Given the description of an element on the screen output the (x, y) to click on. 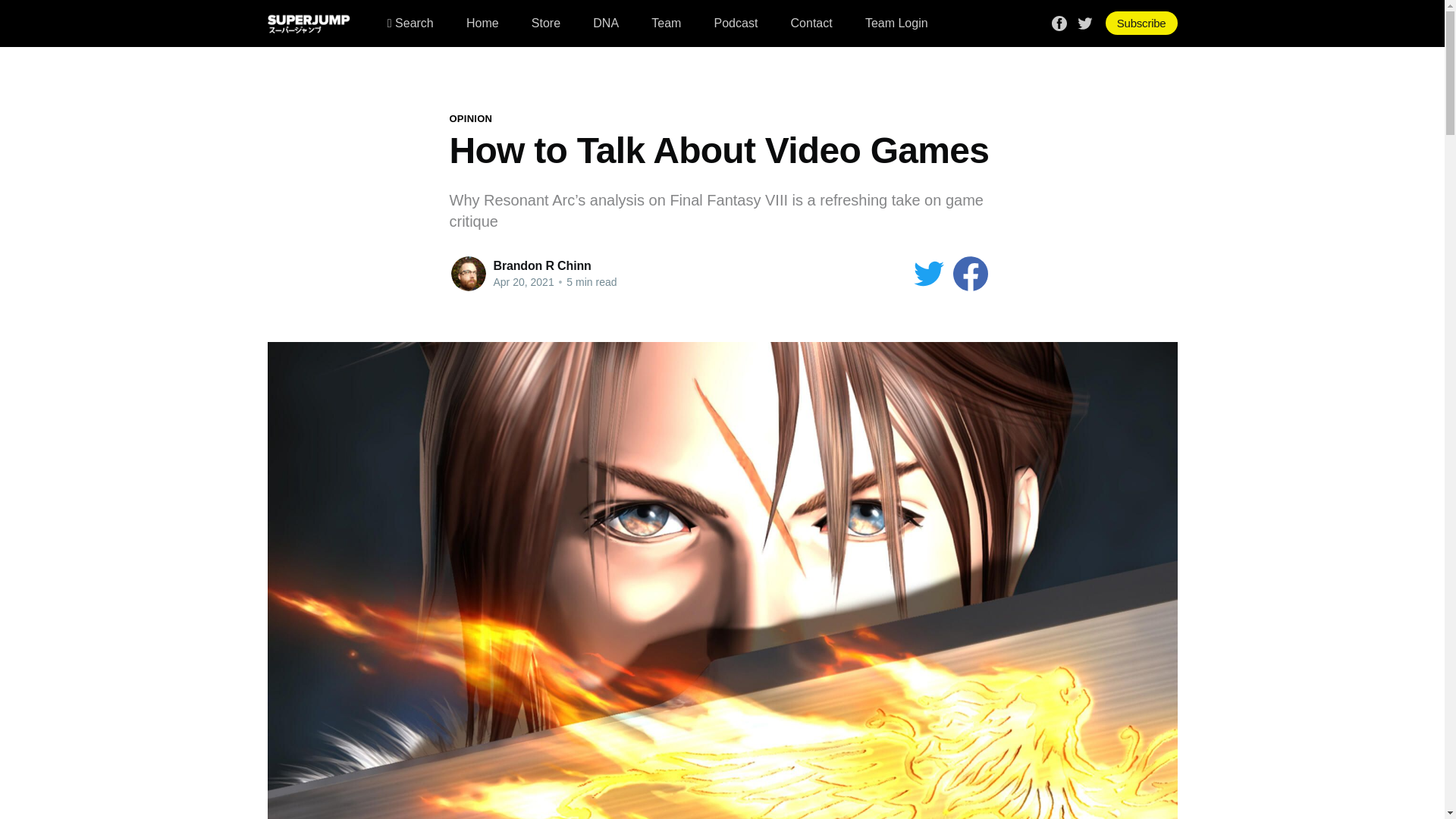
OPINION (470, 119)
Contact (811, 22)
Subscribe (1141, 23)
Brandon R Chinn (542, 265)
Store (545, 22)
Podcast (736, 22)
Home (482, 22)
DNA (605, 22)
Facebook (1059, 21)
Team Login (896, 22)
Team (665, 22)
Twitter (1085, 21)
